Given the description of an element on the screen output the (x, y) to click on. 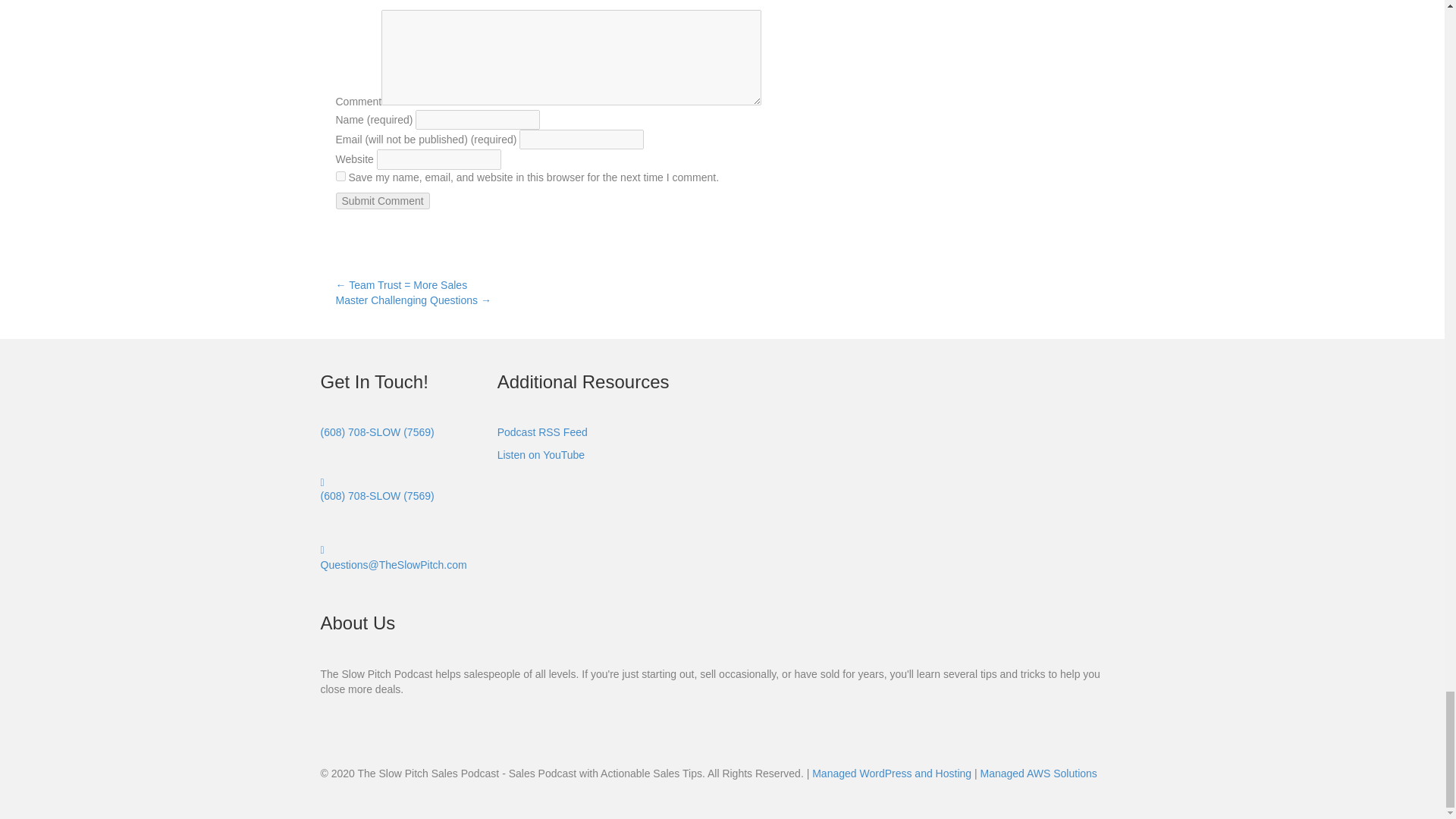
yes (339, 175)
Submit Comment (381, 200)
